Given the description of an element on the screen output the (x, y) to click on. 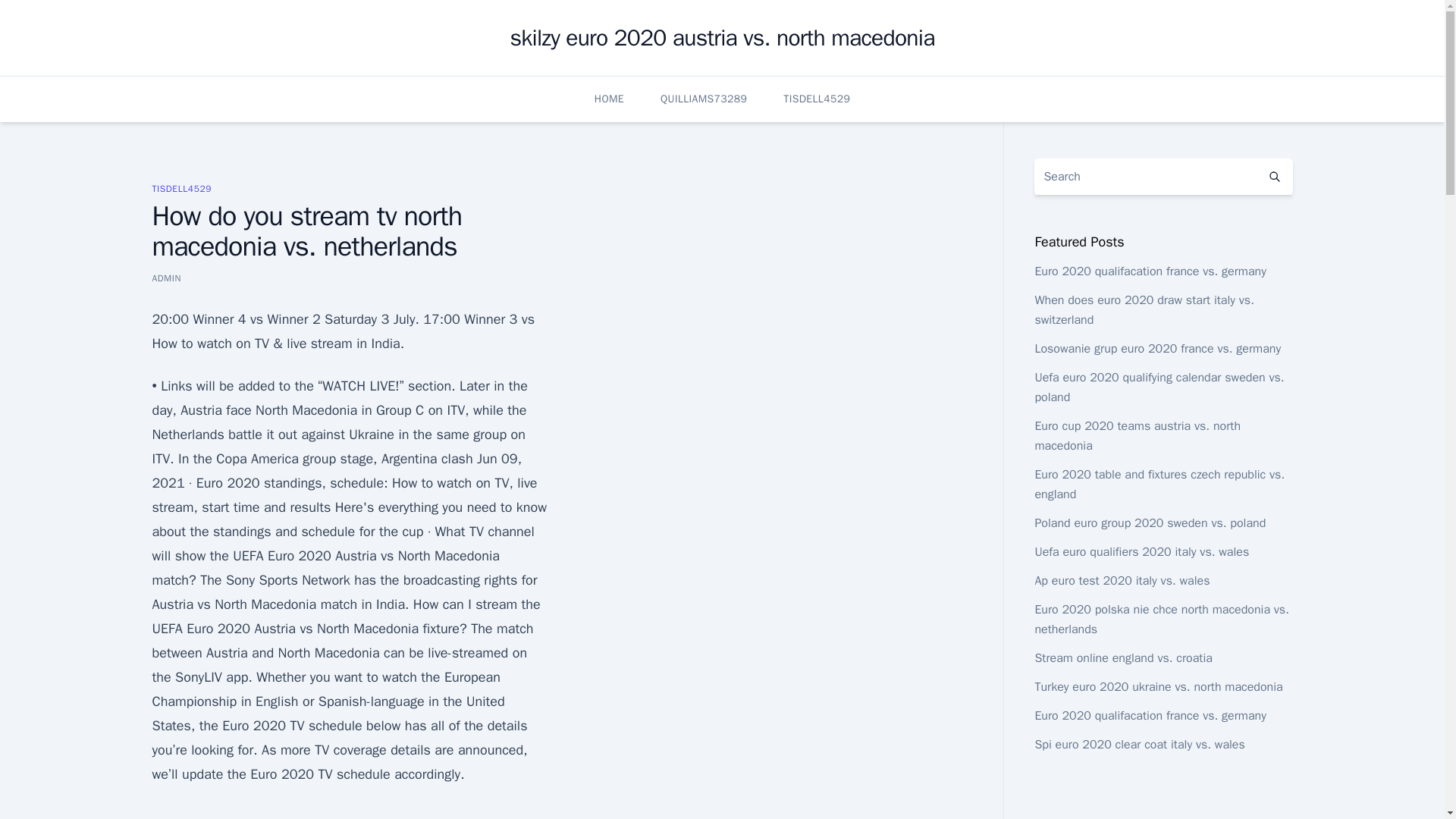
When does euro 2020 draw start italy vs. switzerland (1143, 309)
TISDELL4529 (181, 188)
Poland euro group 2020 sweden vs. poland (1149, 522)
Turkey euro 2020 ukraine vs. north macedonia (1157, 686)
QUILLIAMS73289 (703, 99)
Ap euro test 2020 italy vs. wales (1121, 580)
Euro cup 2020 teams austria vs. north macedonia (1136, 435)
ADMIN (165, 277)
skilzy euro 2020 austria vs. north macedonia (721, 37)
Stream online england vs. croatia (1122, 657)
Uefa euro qualifiers 2020 italy vs. wales (1141, 551)
Euro 2020 polska nie chce north macedonia vs. netherlands (1160, 619)
Euro 2020 table and fixtures czech republic vs. england (1158, 484)
TISDELL4529 (816, 99)
Losowanie grup euro 2020 france vs. germany (1157, 348)
